Given the description of an element on the screen output the (x, y) to click on. 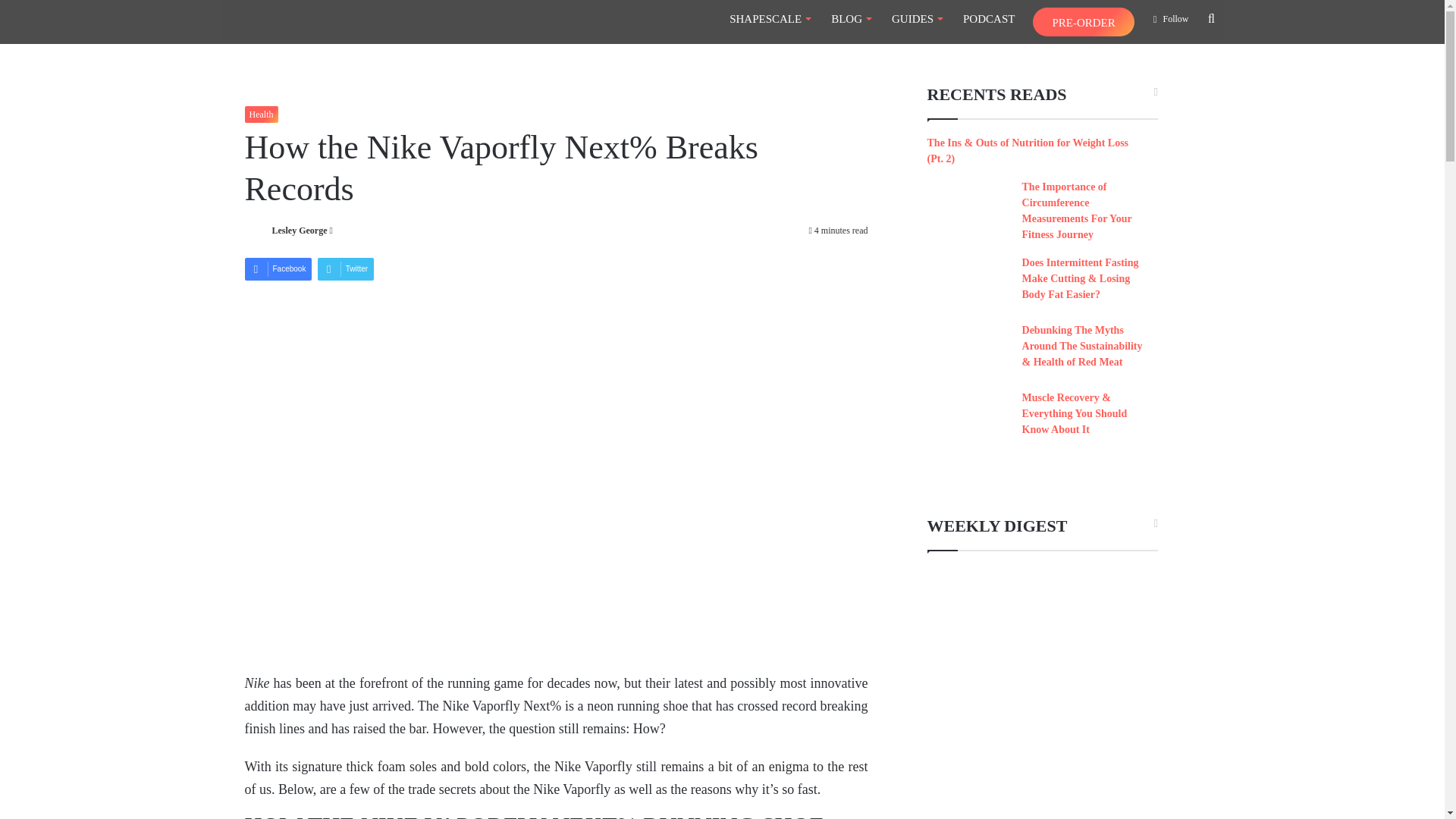
PRE-ORDER (1083, 21)
Follow (1170, 18)
BLOG (850, 18)
Lesley George (298, 230)
PODCAST (988, 18)
SHAPESCALE (770, 18)
Twitter (345, 268)
Facebook (277, 268)
GUIDES (916, 18)
